Given the description of an element on the screen output the (x, y) to click on. 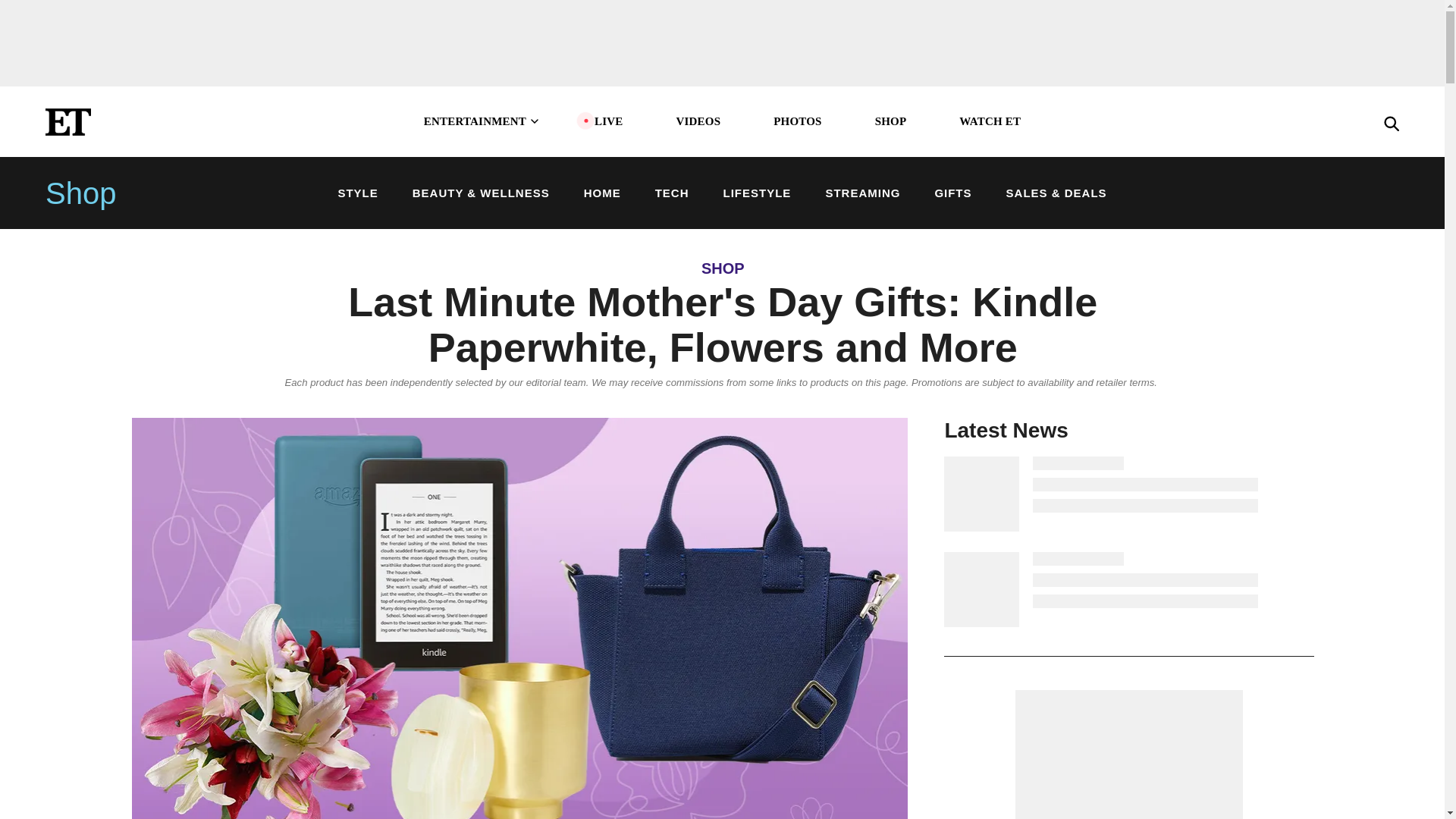
TECH (671, 192)
STREAMING (862, 192)
SHOP (891, 120)
HOME (602, 192)
VIDEOS (697, 120)
LIVE (608, 120)
GIFTS (952, 192)
LIFESTYLE (757, 192)
Shop (82, 192)
WATCH ET (989, 120)
